Given the description of an element on the screen output the (x, y) to click on. 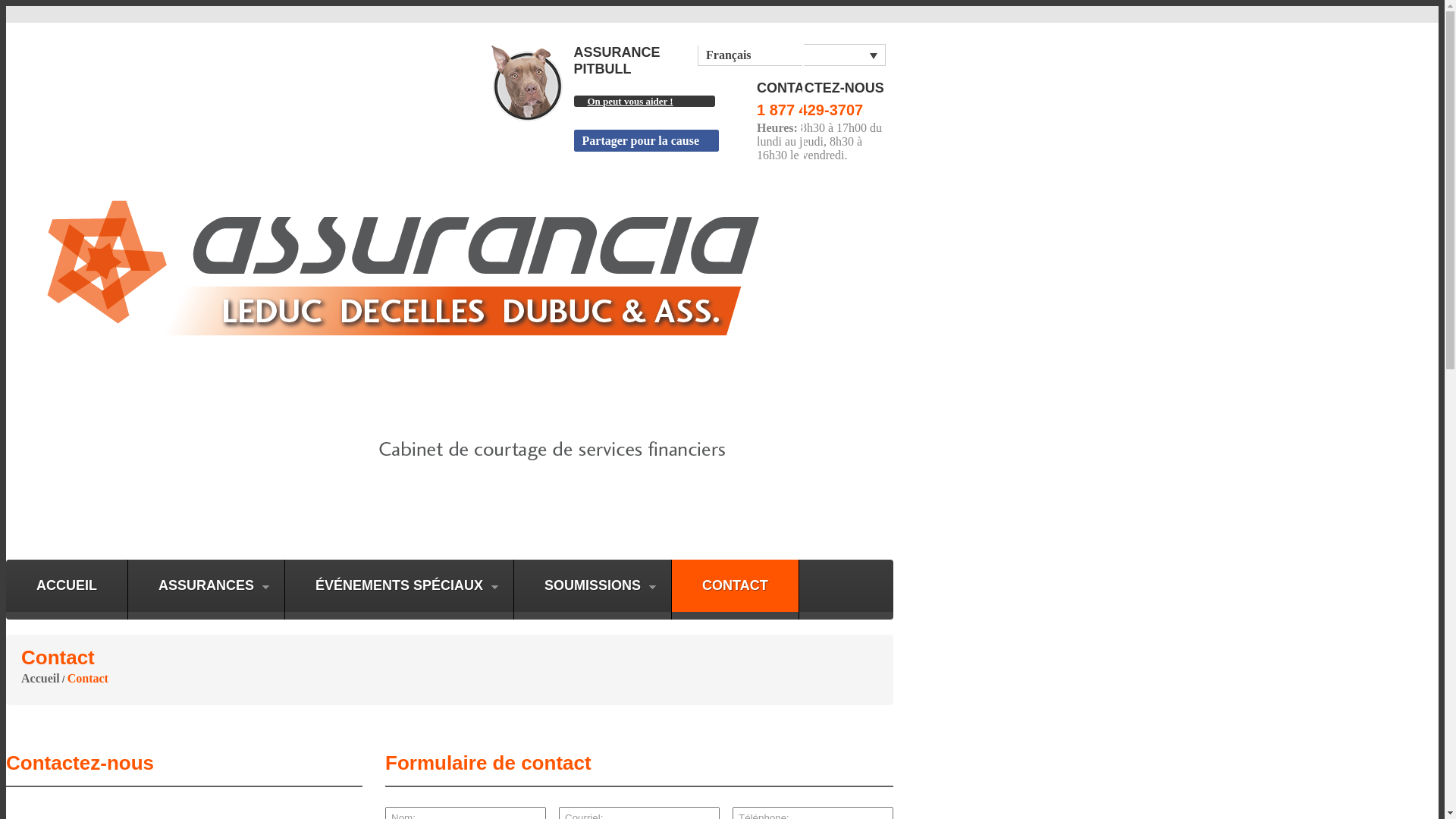
Accueil Element type: text (40, 677)
CONTACT Element type: text (734, 585)
On peut vous aider ! Element type: text (643, 100)
ACCUEIL Element type: text (66, 585)
Partager pour la cause Element type: text (645, 140)
